Given the description of an element on the screen output the (x, y) to click on. 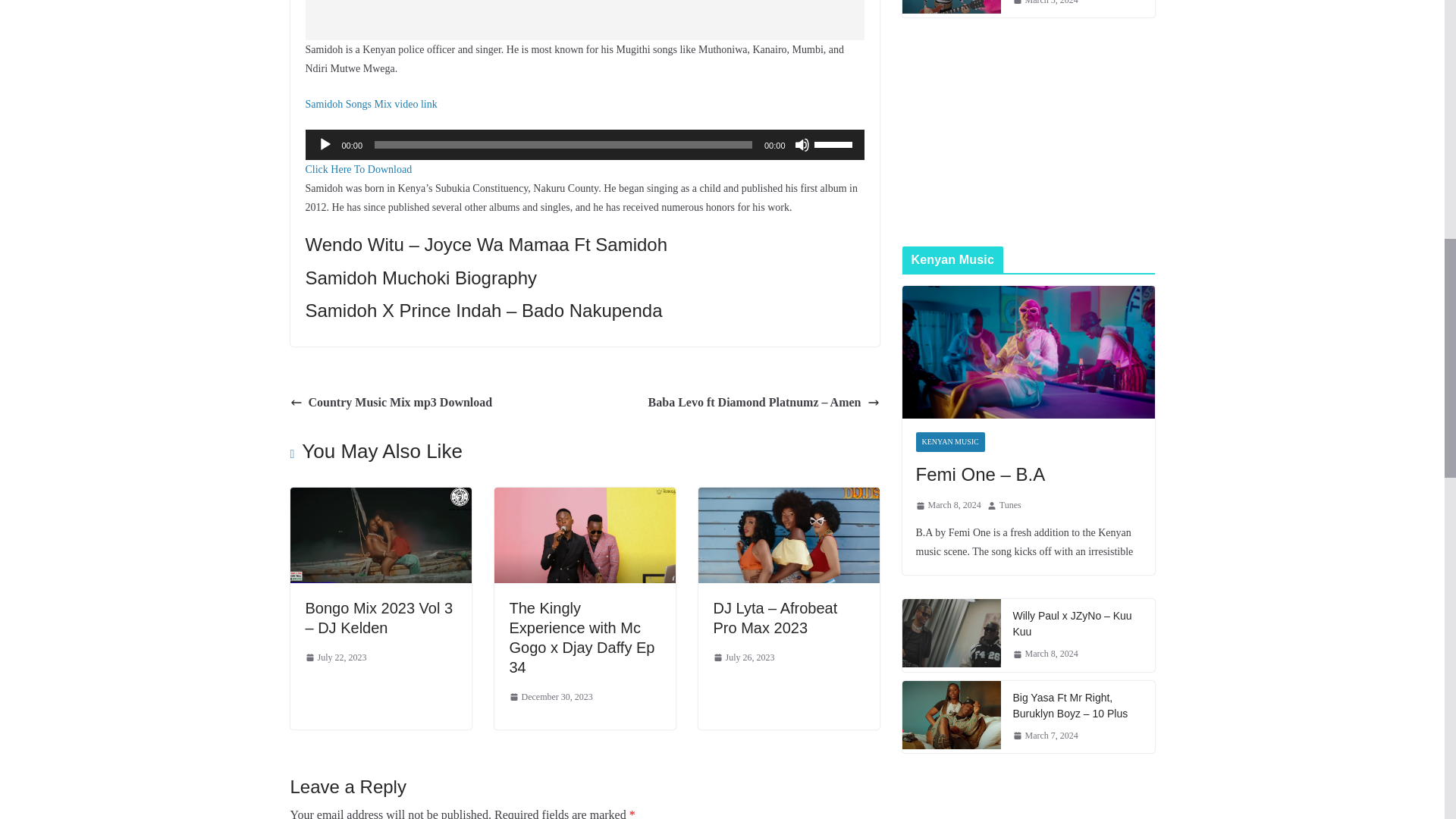
Country Music Mix mp3 Download (390, 403)
Advertisement (583, 20)
Samidoh Muchoki Biography (420, 277)
July 22, 2023 (335, 658)
Samidoh Songs Mix video link (370, 103)
Mute (801, 144)
Click Here To Download (358, 169)
11:22 am (335, 658)
Play (324, 144)
Samidoh Muchoki Biography (420, 277)
The Kingly Experience with Mc Gogo x Djay Daffy Ep 34 (582, 637)
